Given the description of an element on the screen output the (x, y) to click on. 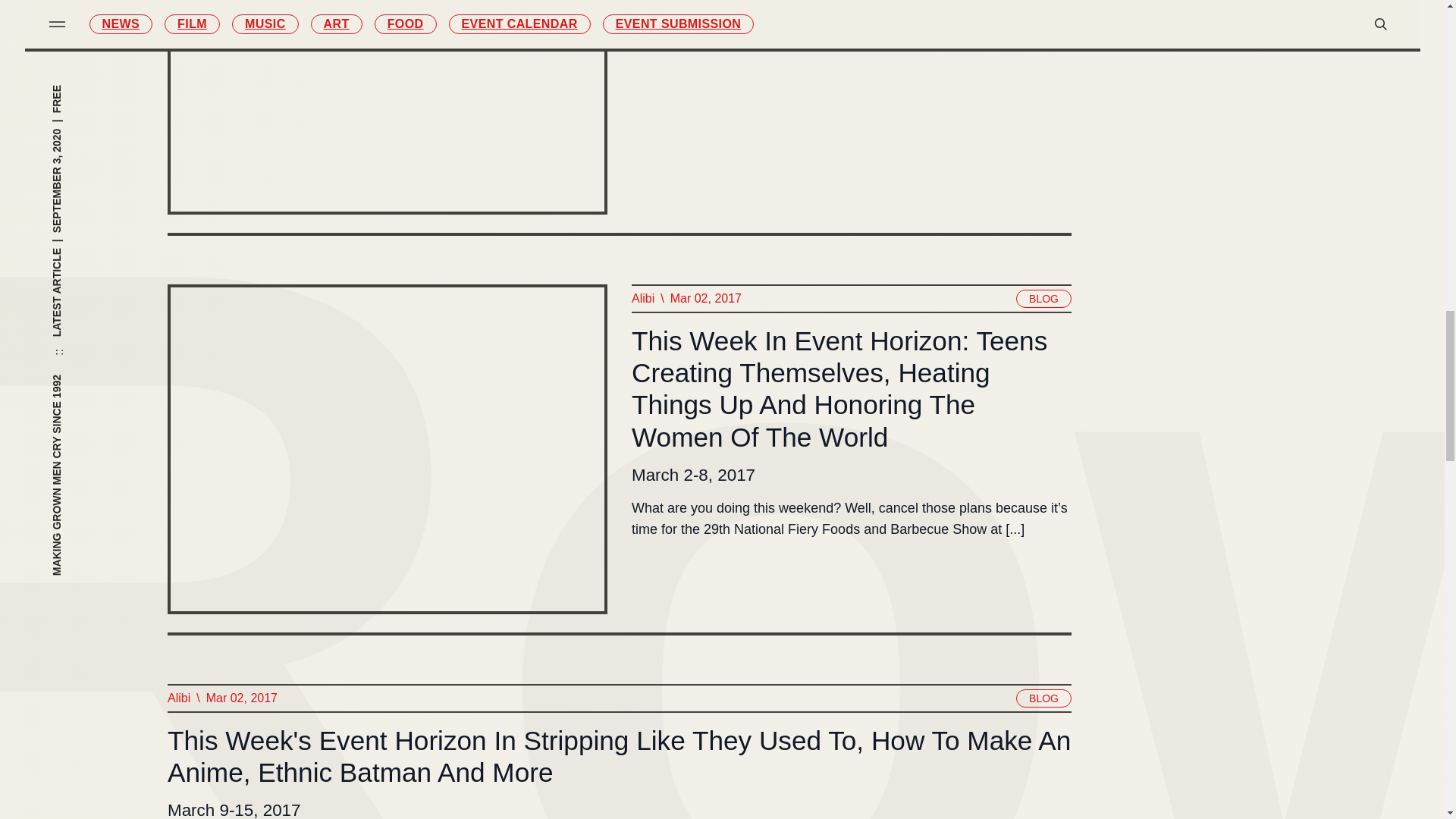
BLOG (1043, 298)
Alibi (641, 298)
Alibi (178, 698)
BLOG (1043, 698)
